Given the description of an element on the screen output the (x, y) to click on. 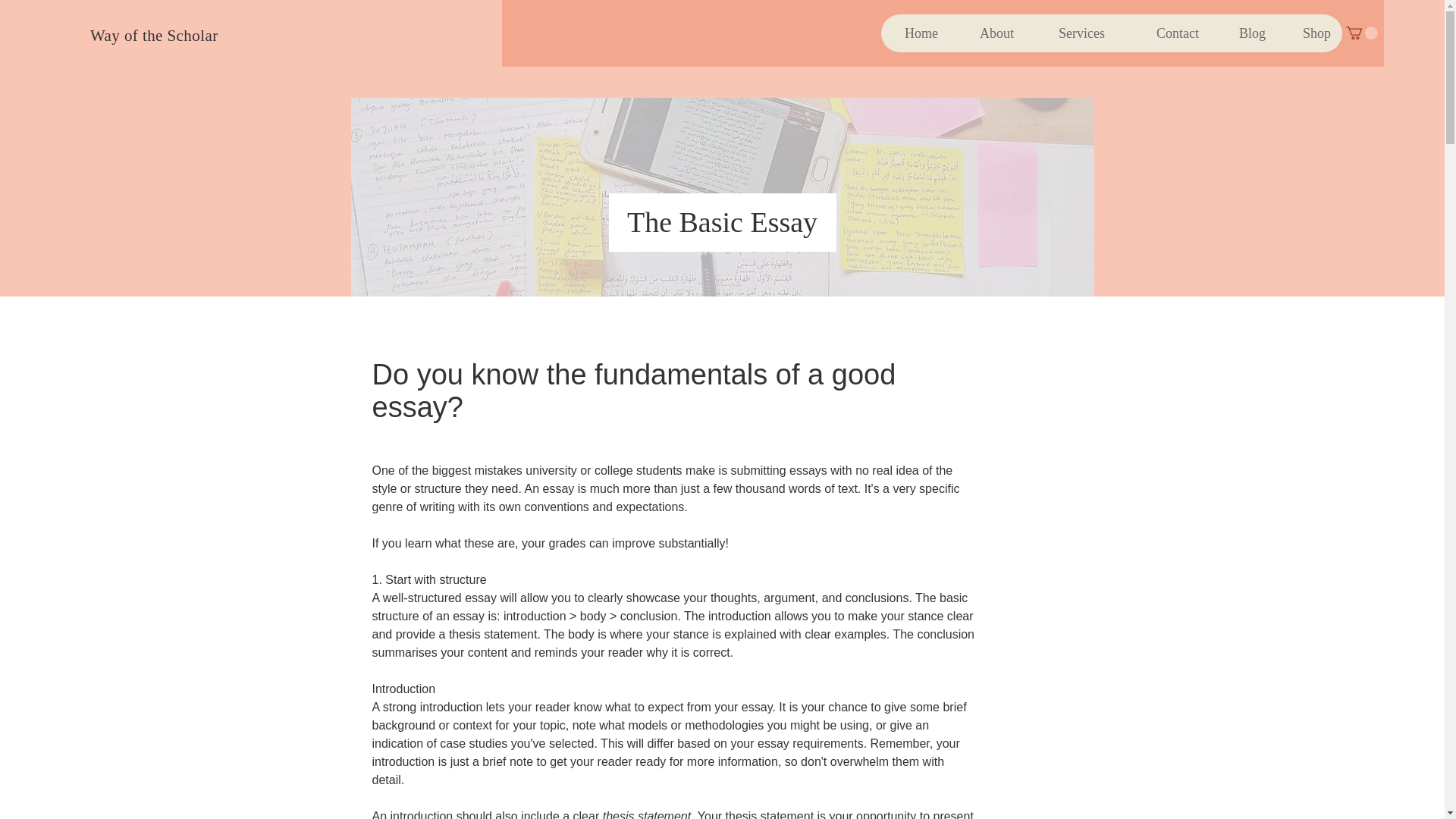
Blog (1242, 33)
Contact (1162, 33)
Way of the Scholar (154, 35)
Shop (1309, 33)
About (987, 33)
Home (914, 33)
Services (1070, 33)
